Given the description of an element on the screen output the (x, y) to click on. 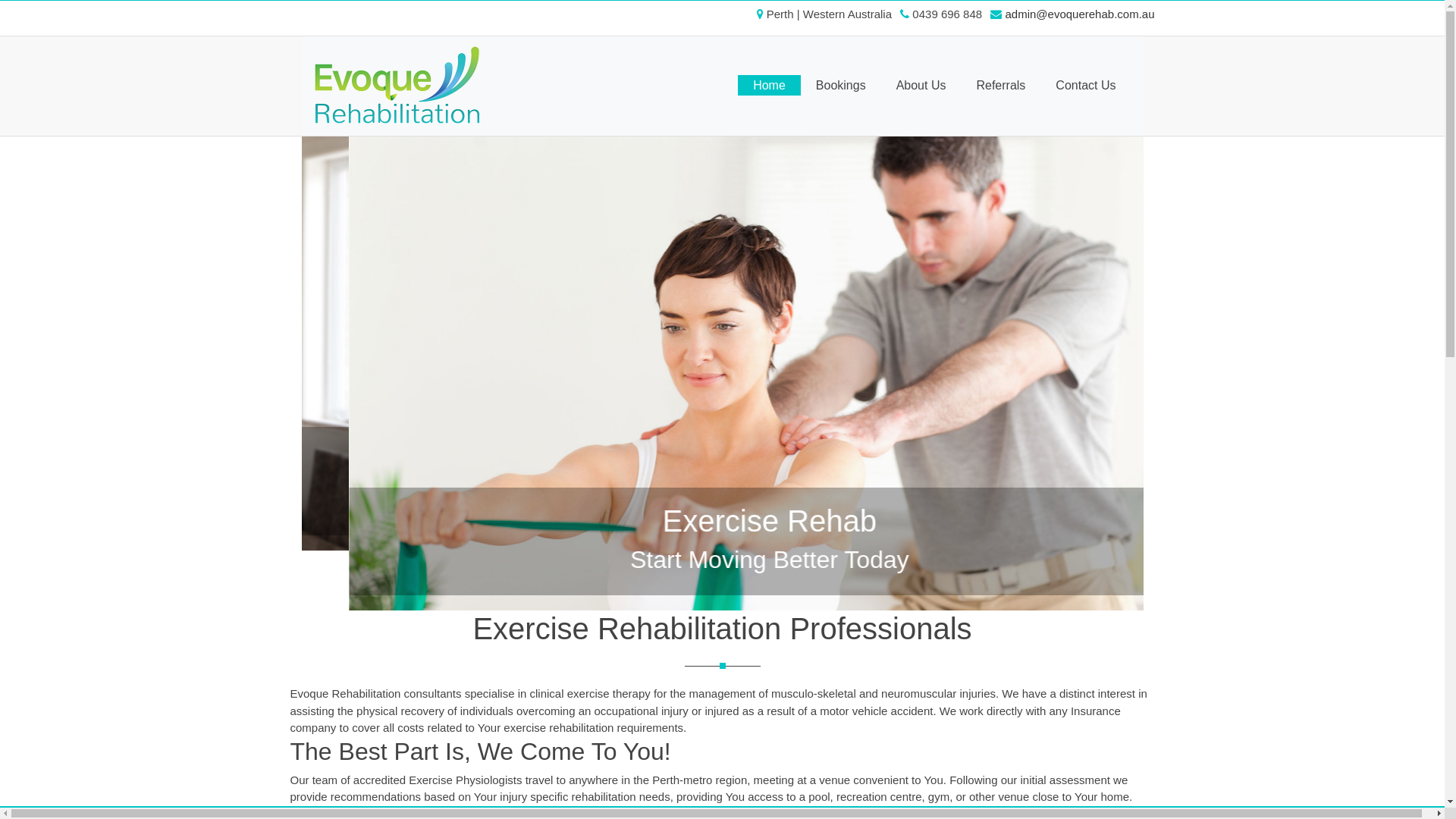
Next Element type: text (1079, 416)
Previous Element type: text (364, 416)
admin@evoquerehab.com.au Element type: text (1077, 13)
About Us Element type: text (921, 85)
Home Element type: text (768, 85)
Bookings Element type: text (840, 85)
Referrals Element type: text (1000, 85)
Contact Us Element type: text (1085, 85)
